Given the description of an element on the screen output the (x, y) to click on. 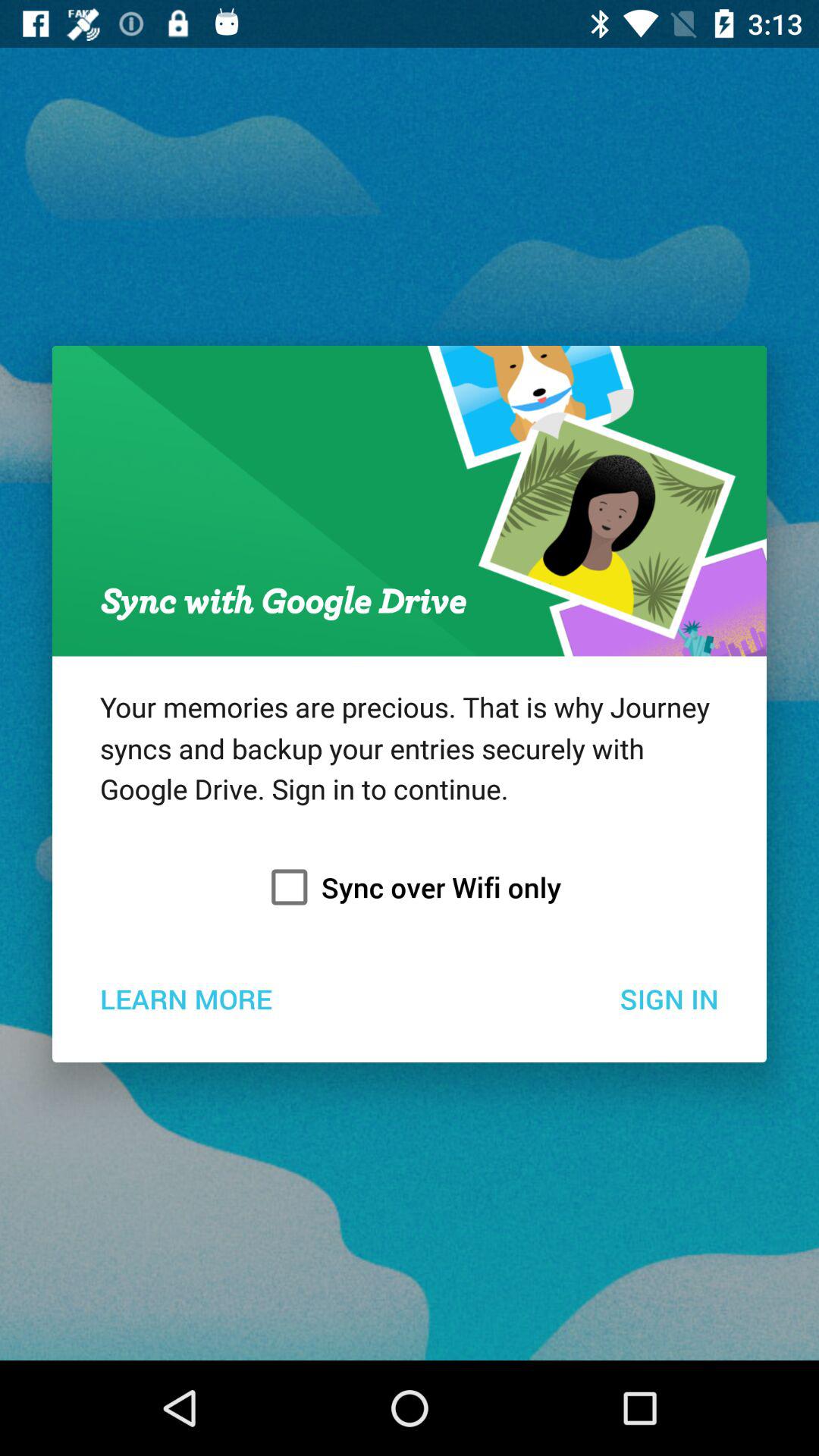
tap item above learn more item (409, 887)
